Given the description of an element on the screen output the (x, y) to click on. 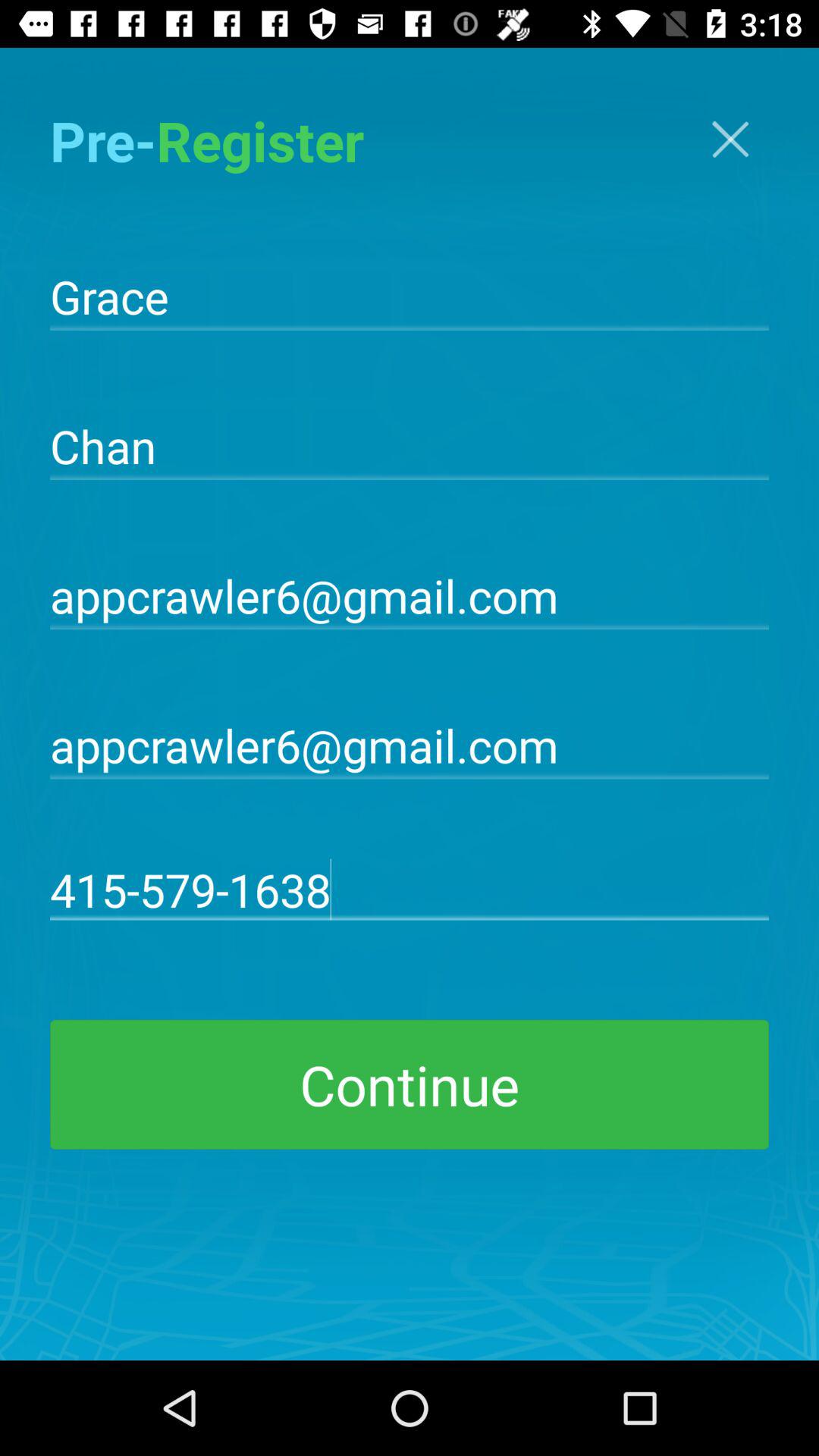
select item next to pre-register (730, 139)
